Given the description of an element on the screen output the (x, y) to click on. 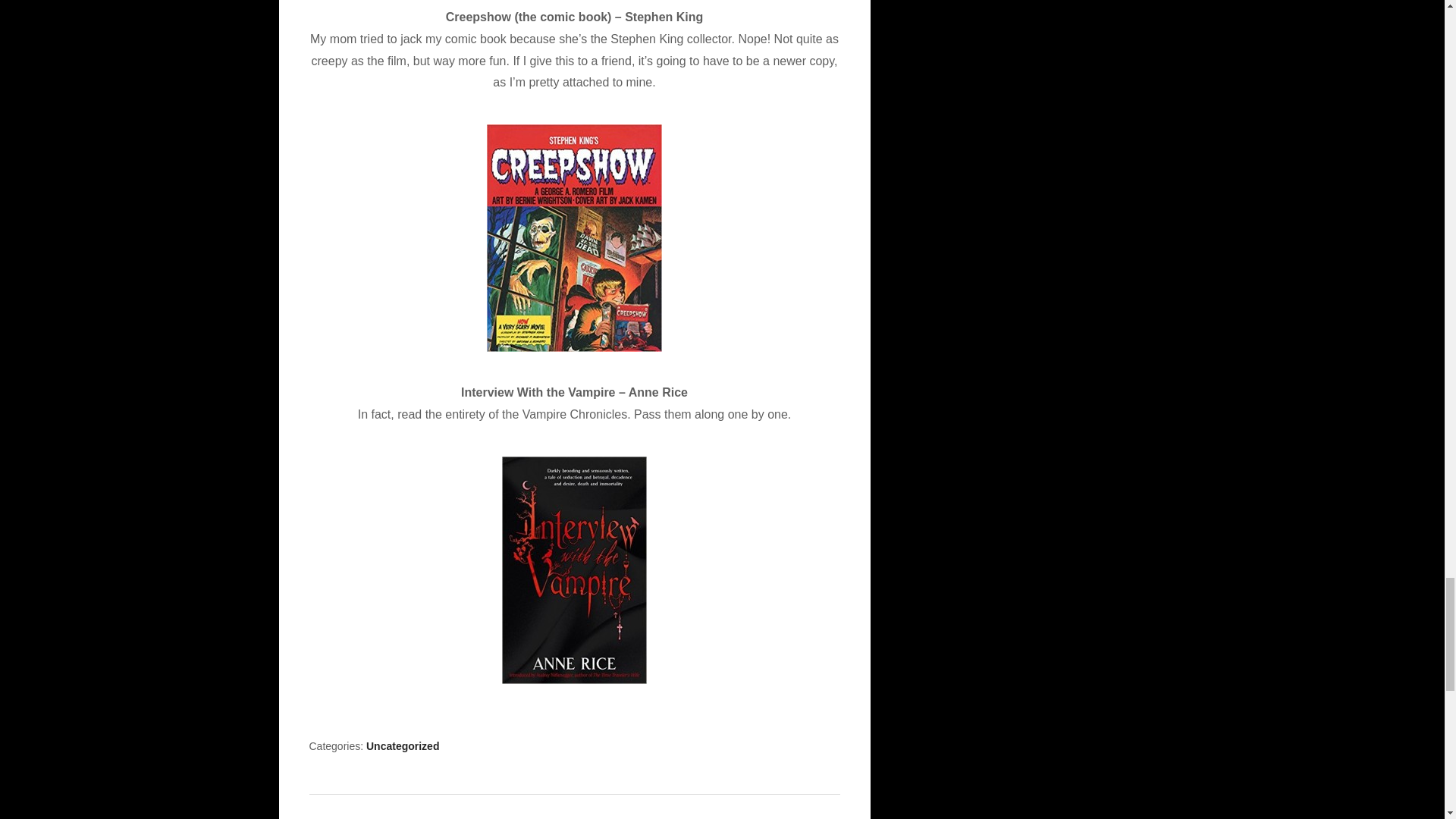
Uncategorized (402, 746)
